Given the description of an element on the screen output the (x, y) to click on. 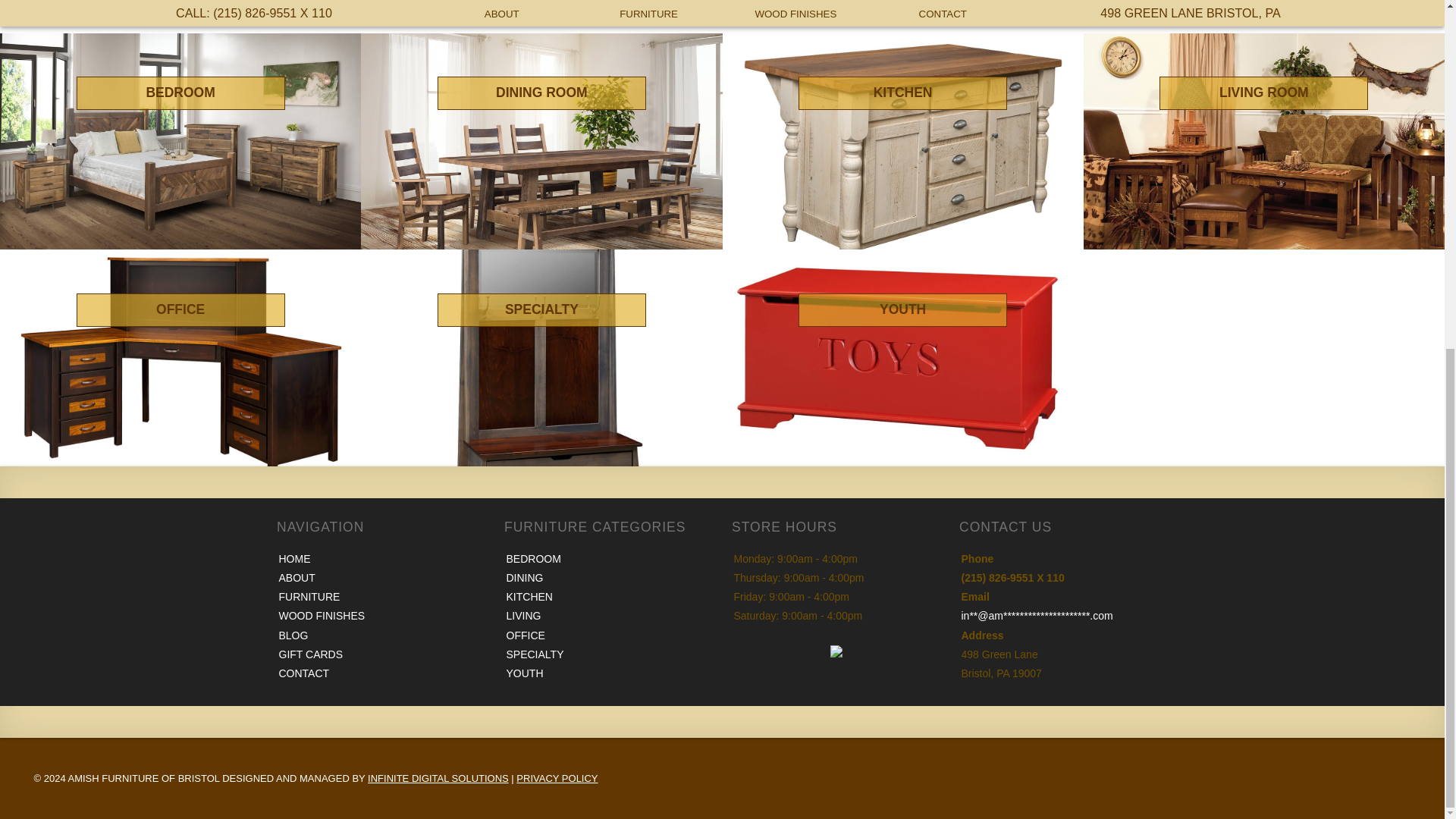
DINING ROOM (541, 138)
LIVING ROOM (1263, 138)
KITCHEN (902, 138)
SPECIALTY (541, 354)
BEDROOM (180, 138)
OFFICE (180, 354)
